Given the description of an element on the screen output the (x, y) to click on. 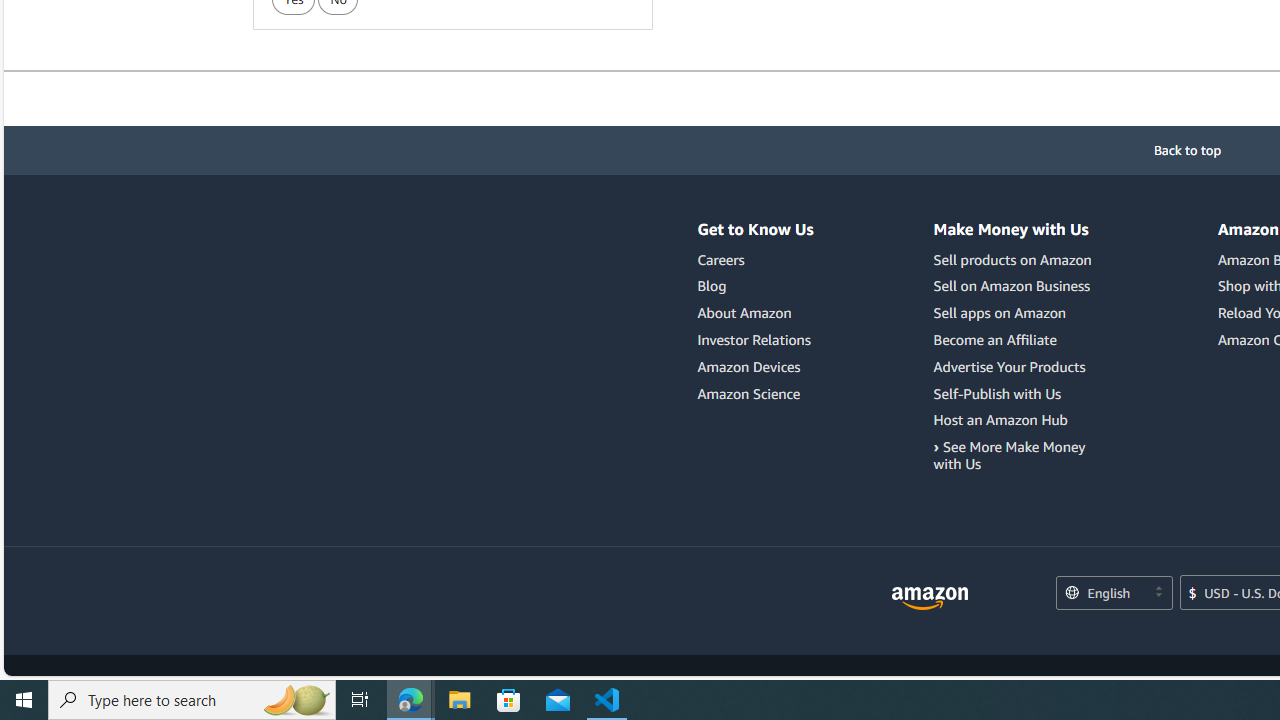
Blog (755, 286)
Self-Publish with Us (1015, 394)
Amazon Devices (755, 366)
Investor Relations (754, 339)
Amazon US Home (930, 597)
Careers (720, 259)
Careers (755, 260)
Amazon Science (755, 394)
Self-Publish with Us (997, 393)
Blog (712, 286)
Amazon Science (749, 393)
Sell apps on Amazon (1000, 313)
Amazon Devices (749, 366)
Investor Relations (755, 340)
Sell products on Amazon (1015, 260)
